Given the description of an element on the screen output the (x, y) to click on. 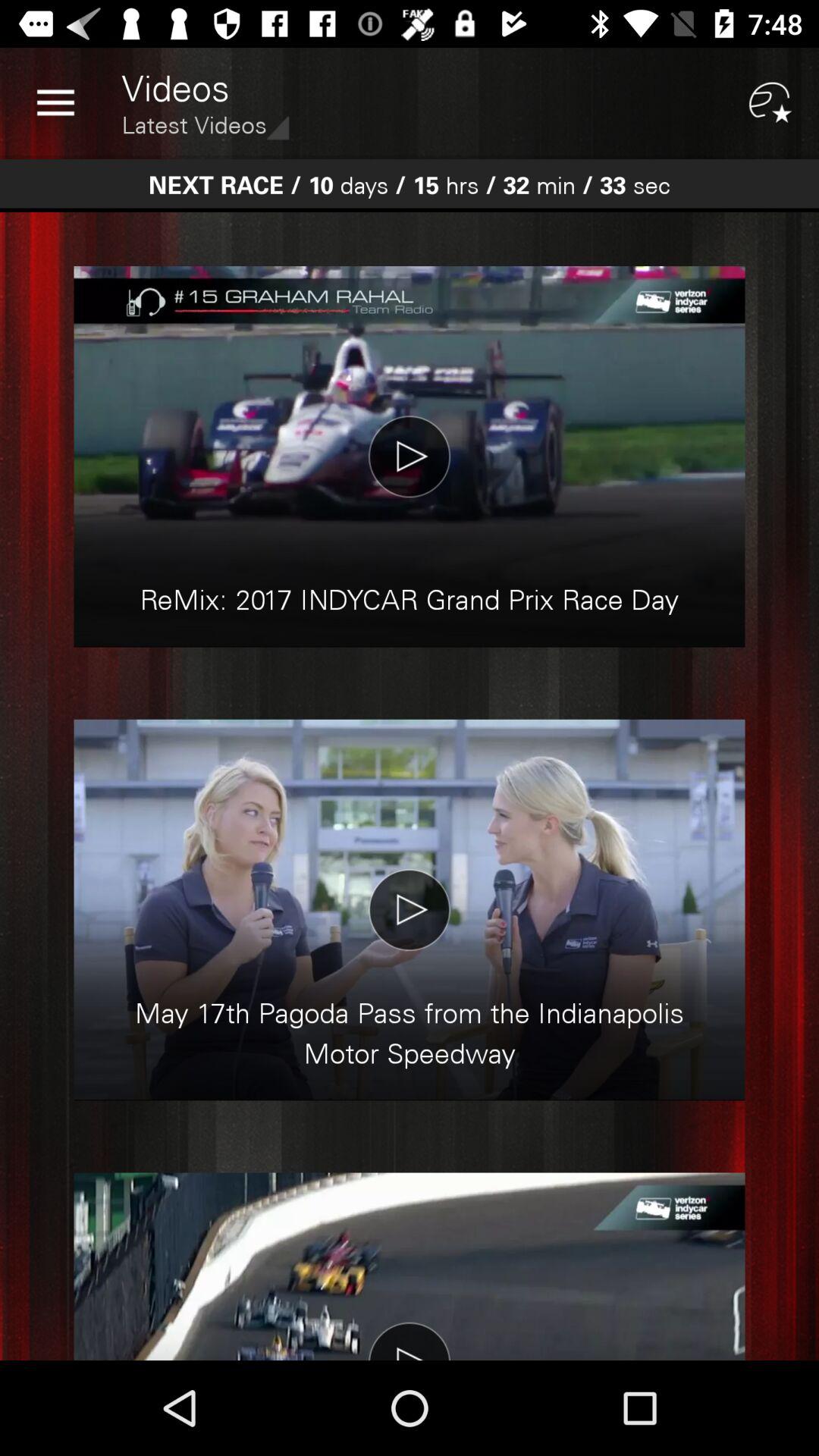
go to top right (771, 103)
select first video from top (409, 456)
select the second video play button (409, 909)
